Given the description of an element on the screen output the (x, y) to click on. 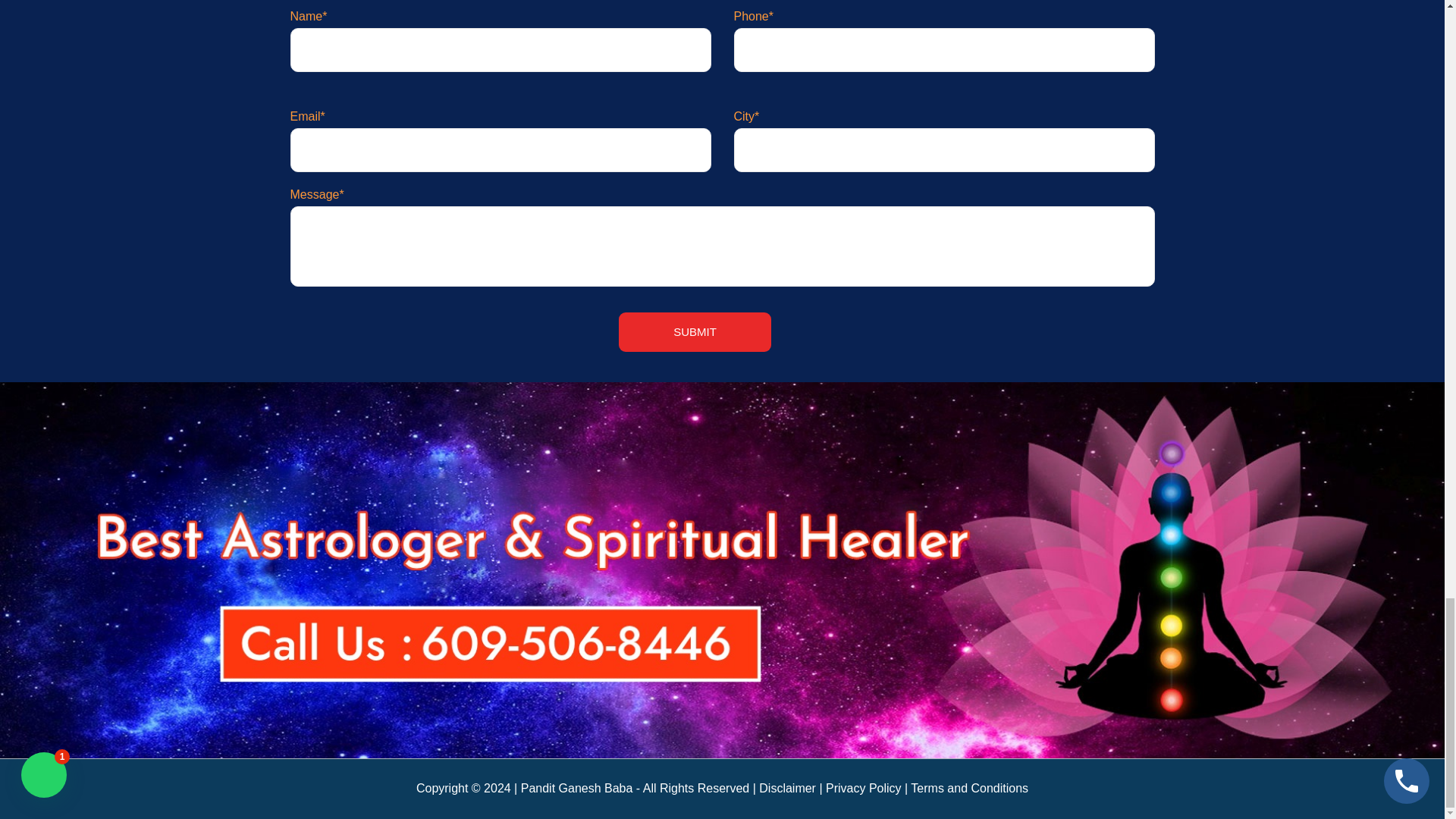
SUBMIT (694, 332)
